Given the description of an element on the screen output the (x, y) to click on. 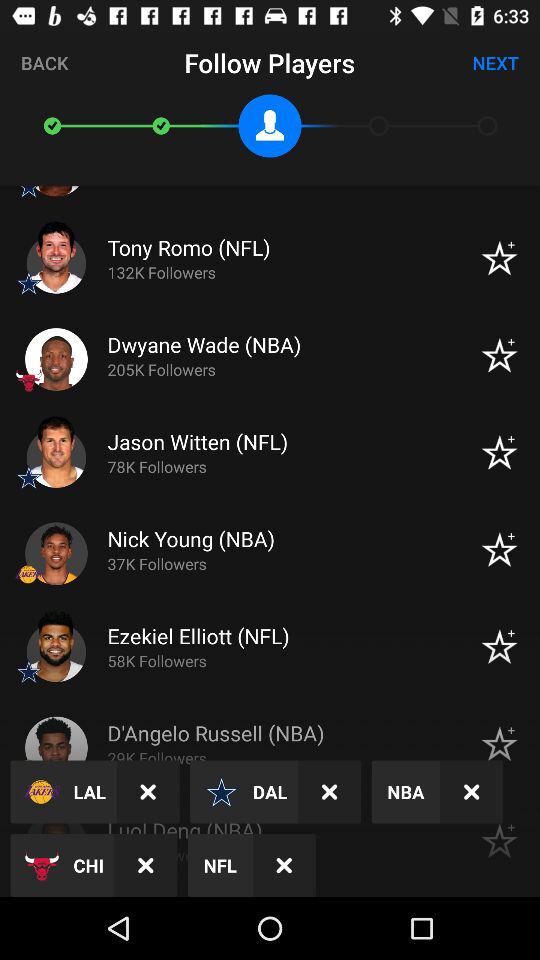
launch the icon next to nba icon (329, 791)
